Given the description of an element on the screen output the (x, y) to click on. 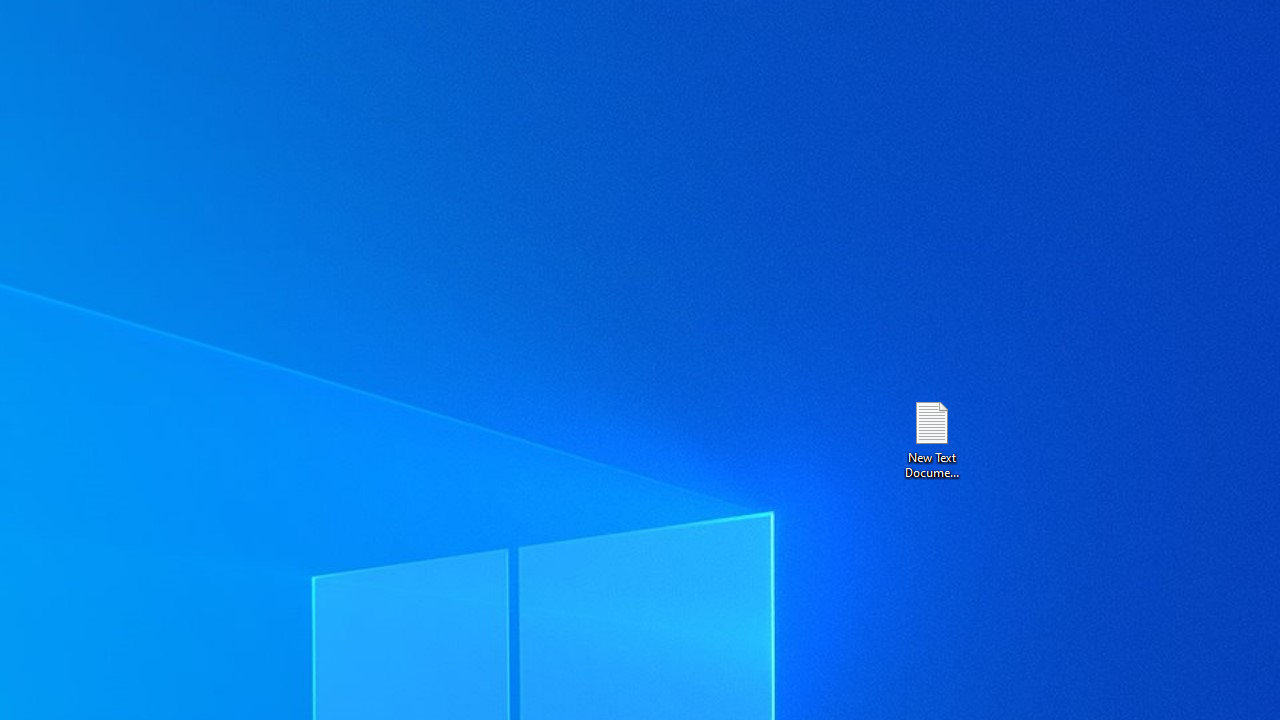
New Text Document (2) (931, 438)
